Given the description of an element on the screen output the (x, y) to click on. 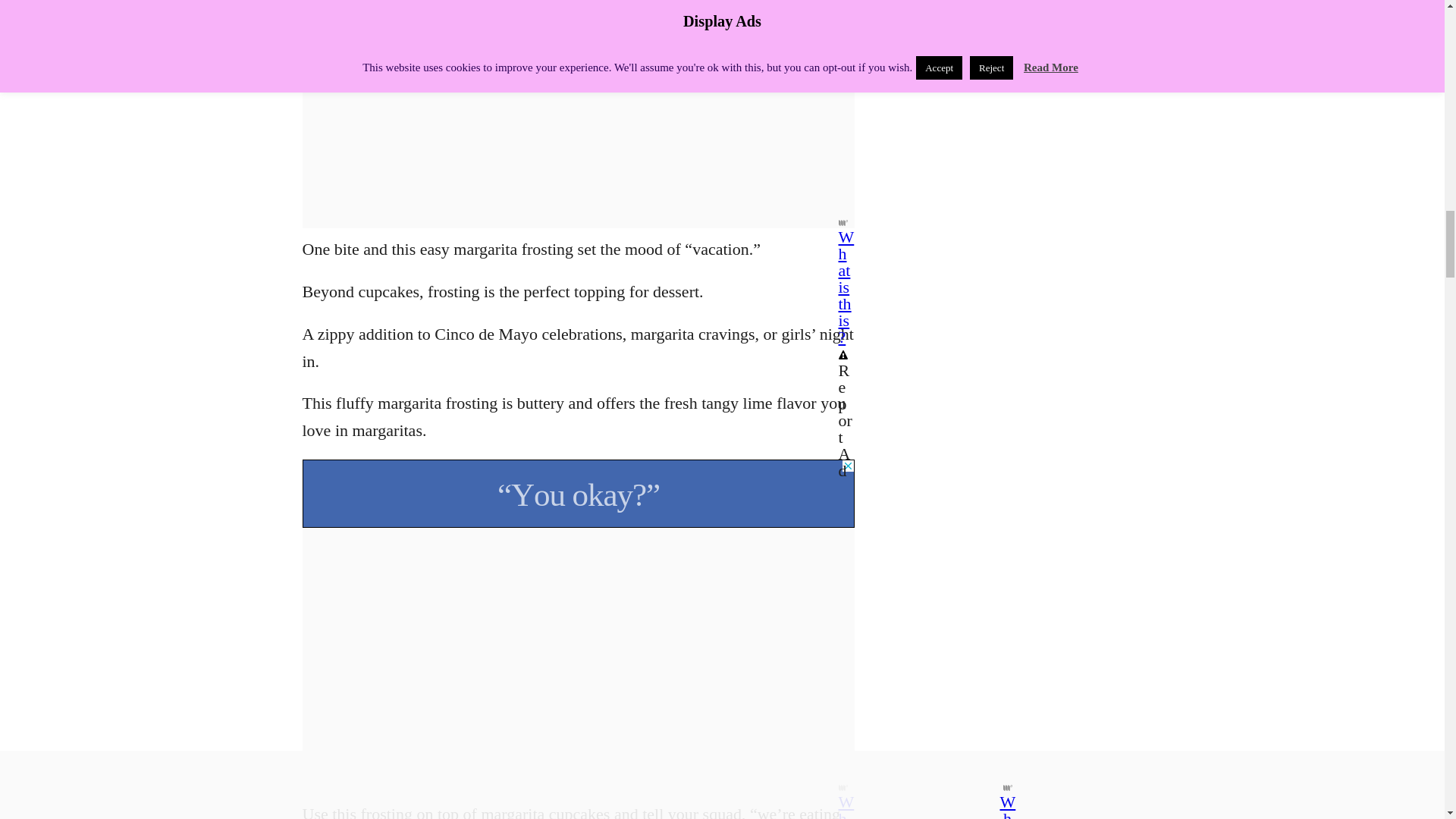
3rd party ad content (577, 493)
